Given the description of an element on the screen output the (x, y) to click on. 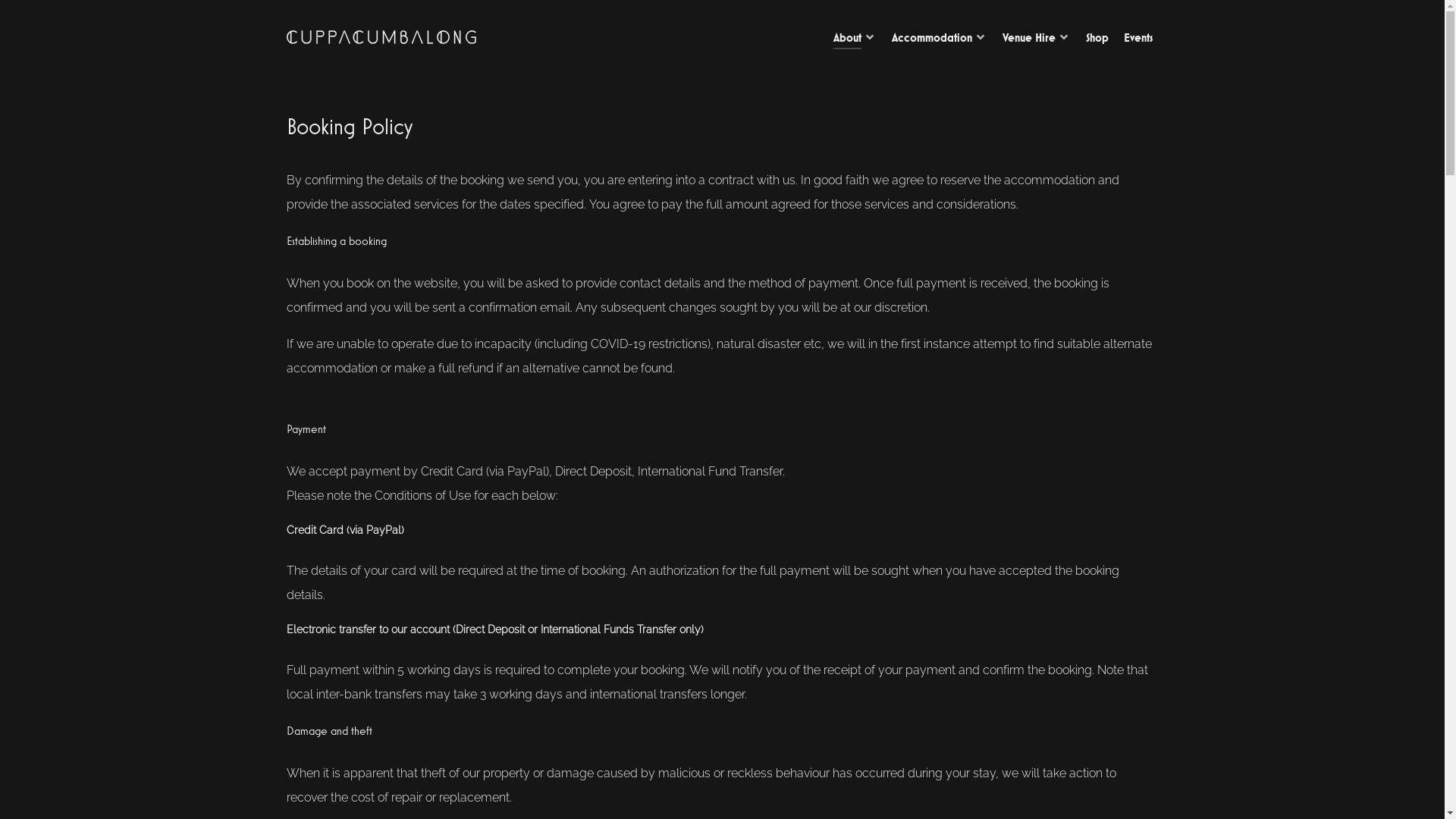
Events Element type: text (1137, 38)
Venue Hire Element type: text (1036, 38)
Shop Element type: text (1096, 38)
